Given the description of an element on the screen output the (x, y) to click on. 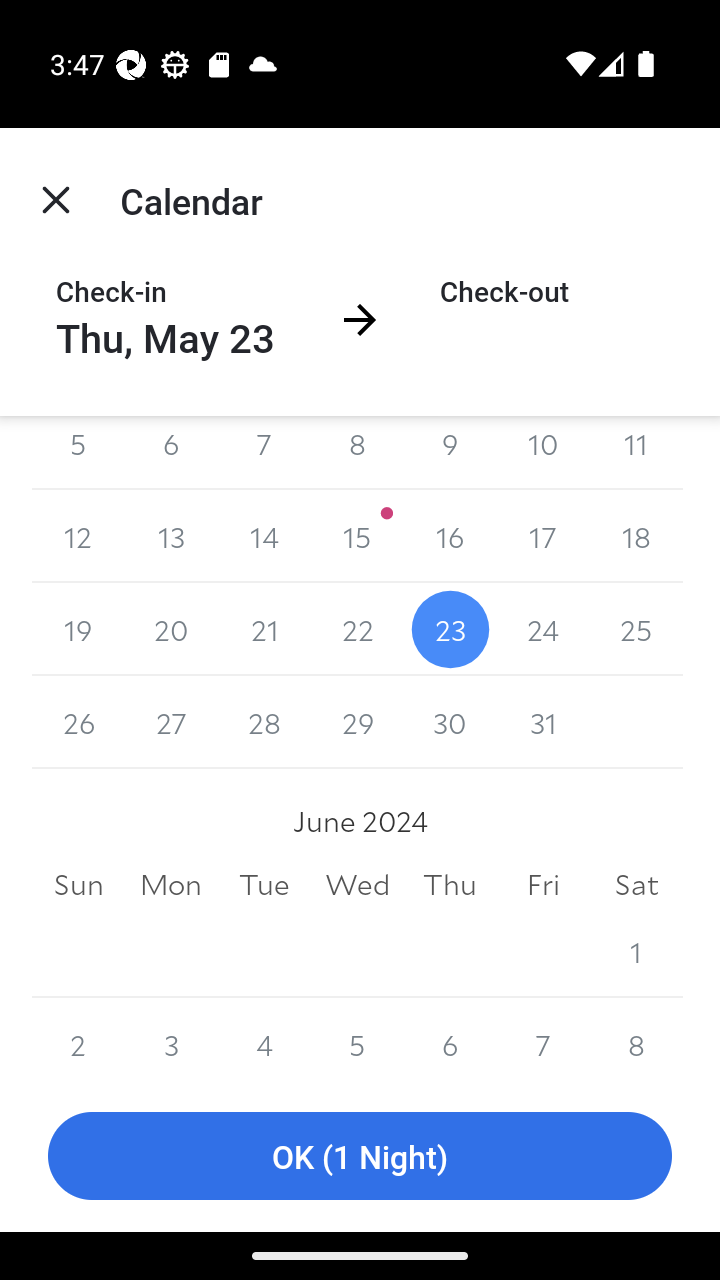
5 5 May 2024 (78, 453)
6 6 May 2024 (171, 453)
7 7 May 2024 (264, 453)
8 8 May 2024 (357, 453)
9 9 May 2024 (449, 453)
10 10 May 2024 (542, 453)
11 11 May 2024 (636, 453)
12 12 May 2024 (78, 536)
13 13 May 2024 (171, 536)
14 14 May 2024 (264, 536)
15 15 May 2024 (357, 536)
16 16 May 2024 (449, 536)
17 17 May 2024 (542, 536)
18 18 May 2024 (636, 536)
19 19 May 2024 (78, 628)
20 20 May 2024 (171, 628)
21 21 May 2024 (264, 628)
22 22 May 2024 (357, 628)
23 23 May 2024 (449, 628)
24 24 May 2024 (542, 628)
25 25 May 2024 (636, 628)
26 26 May 2024 (78, 722)
27 27 May 2024 (171, 722)
28 28 May 2024 (264, 722)
29 29 May 2024 (357, 722)
30 30 May 2024 (449, 722)
31 31 May 2024 (542, 722)
Sun (78, 884)
Mon (171, 884)
Tue (264, 884)
Wed (357, 884)
Thu (449, 884)
Fri (542, 884)
Sat (636, 884)
1 1 June 2024 (636, 951)
2 2 June 2024 (78, 1039)
3 3 June 2024 (171, 1039)
4 4 June 2024 (264, 1039)
5 5 June 2024 (357, 1039)
6 6 June 2024 (449, 1039)
7 7 June 2024 (542, 1039)
8 8 June 2024 (636, 1039)
OK (1 Night) (359, 1156)
